Given the description of an element on the screen output the (x, y) to click on. 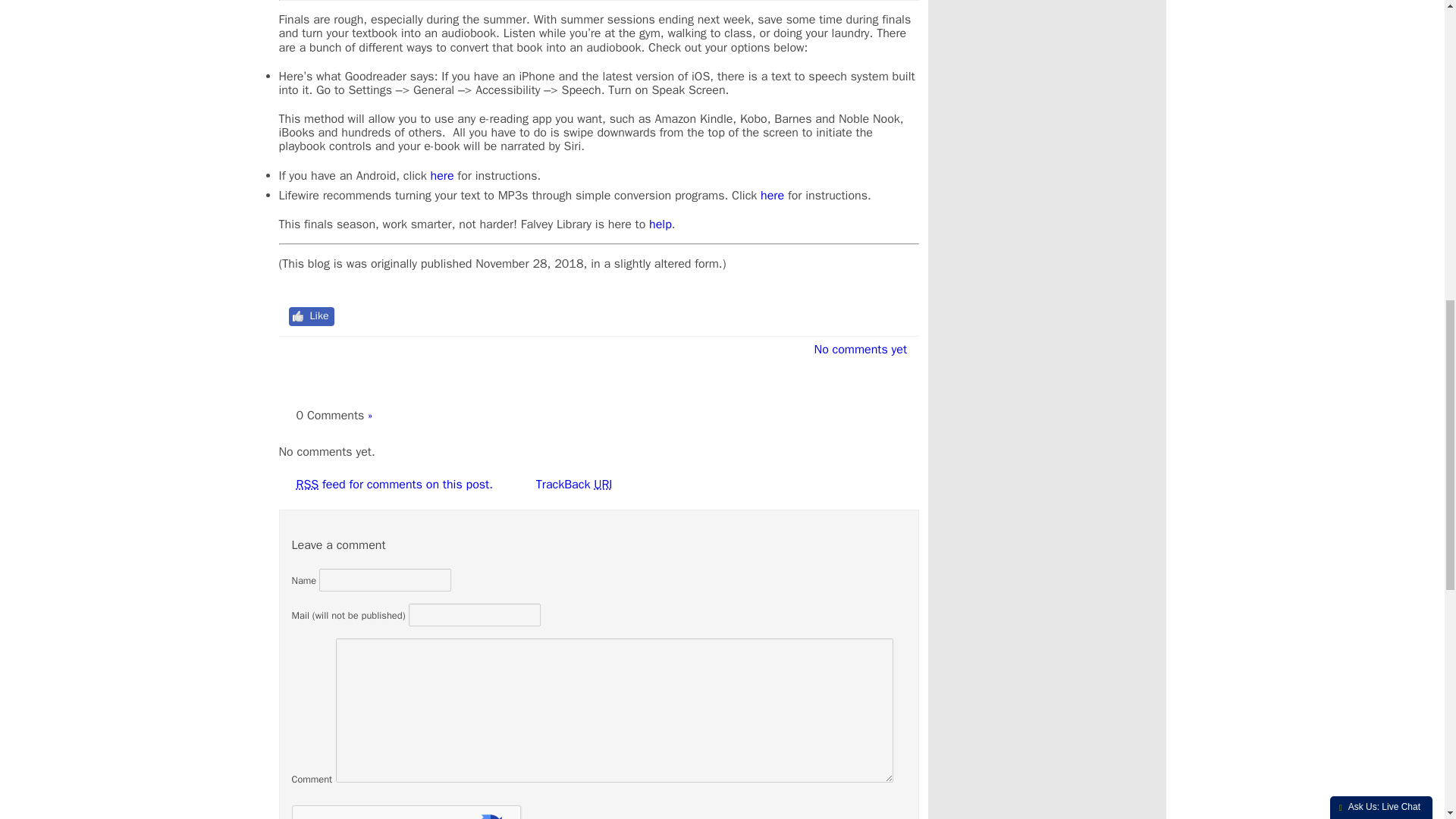
Uniform Resource Identifier (602, 484)
reCAPTCHA (406, 812)
Really Simple Syndication (306, 484)
